Given the description of an element on the screen output the (x, y) to click on. 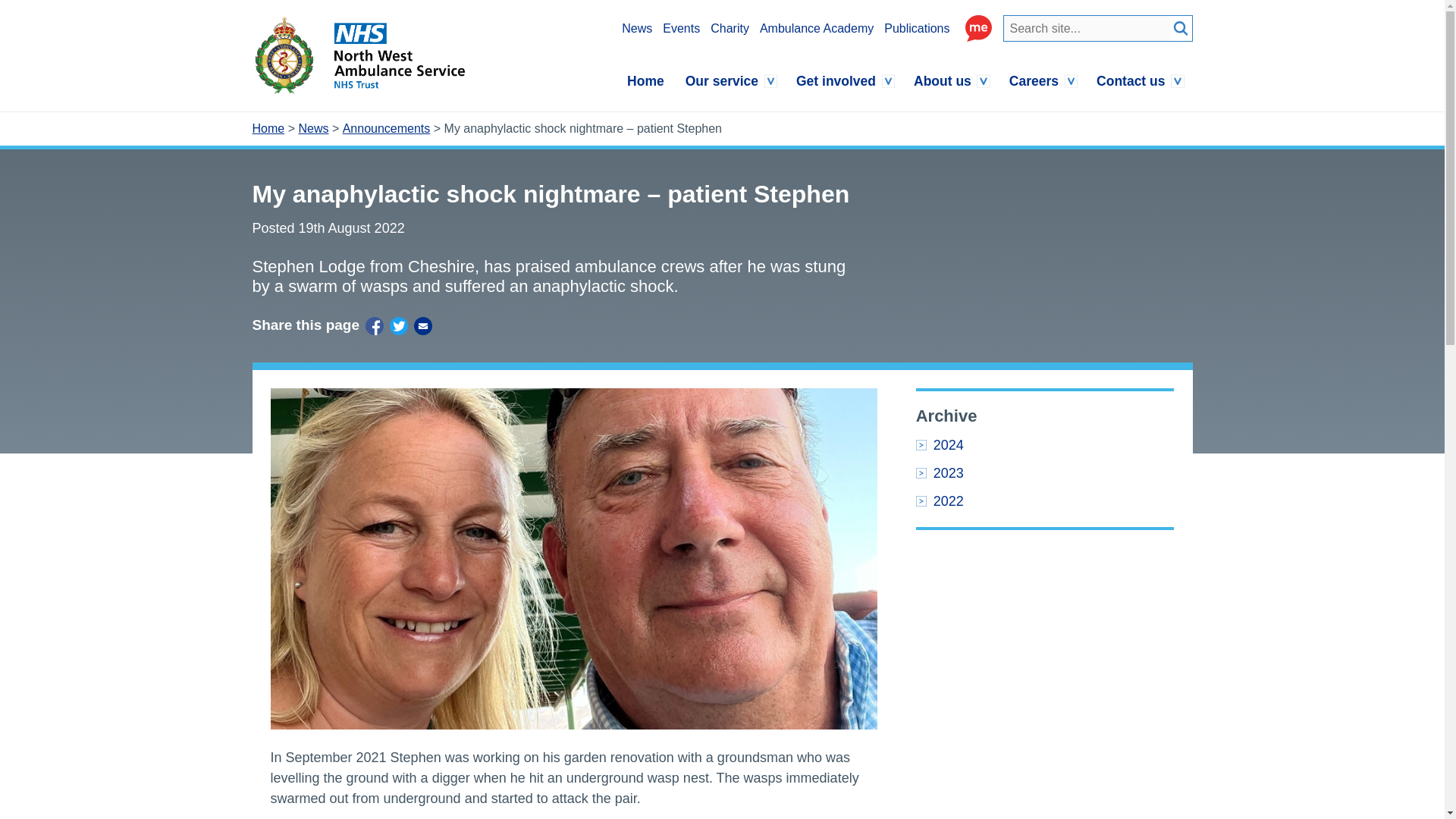
Publications (916, 28)
News (636, 28)
Home (645, 80)
Go to News. (313, 128)
Go to Home. (267, 128)
Charity (729, 28)
About us (950, 80)
Our service (730, 80)
Go to the Announcements category archives. (386, 128)
Ambulance Academy (816, 28)
